Given the description of an element on the screen output the (x, y) to click on. 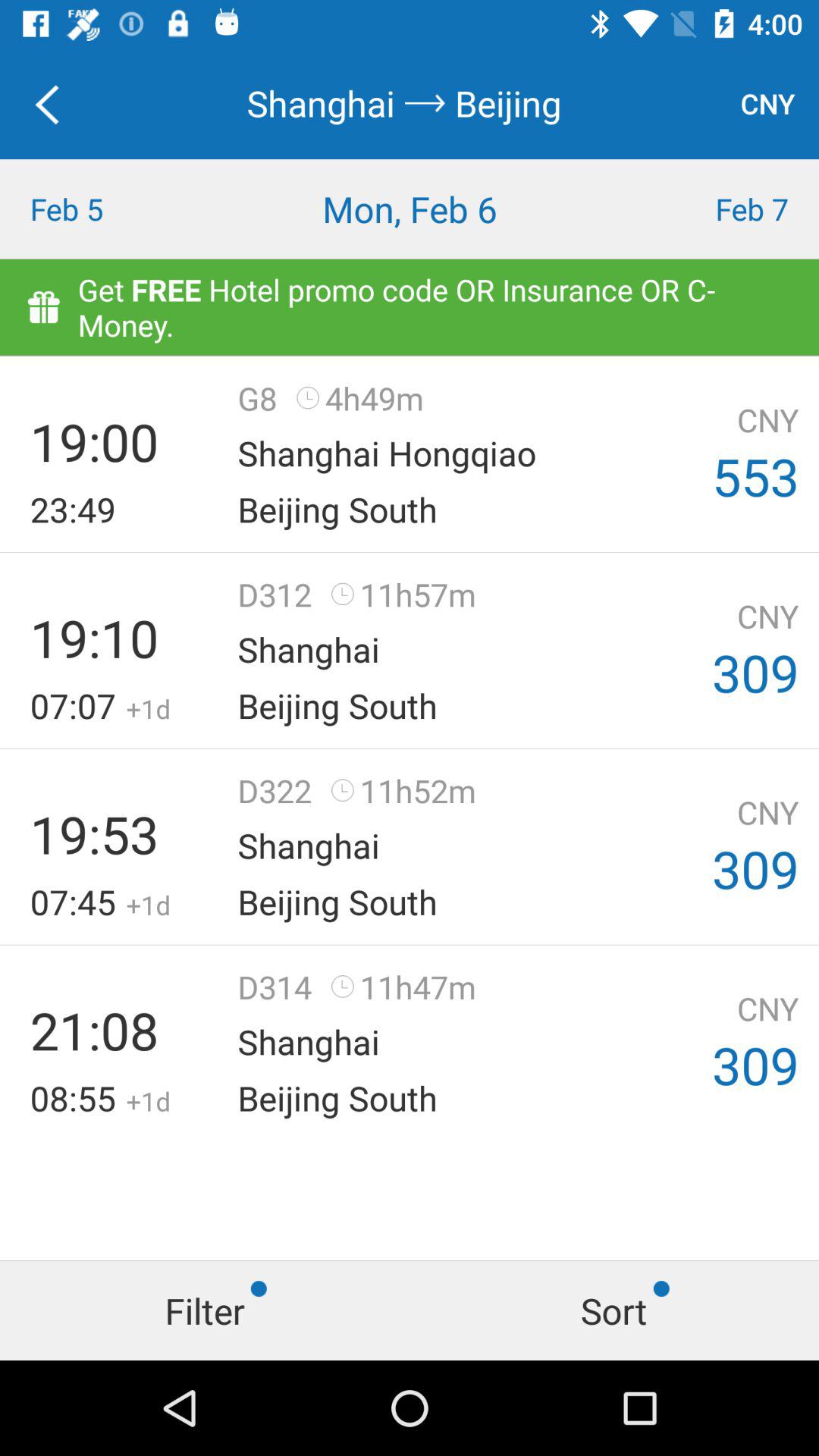
launch item to the right of mon, feb 6 item (716, 208)
